Given the description of an element on the screen output the (x, y) to click on. 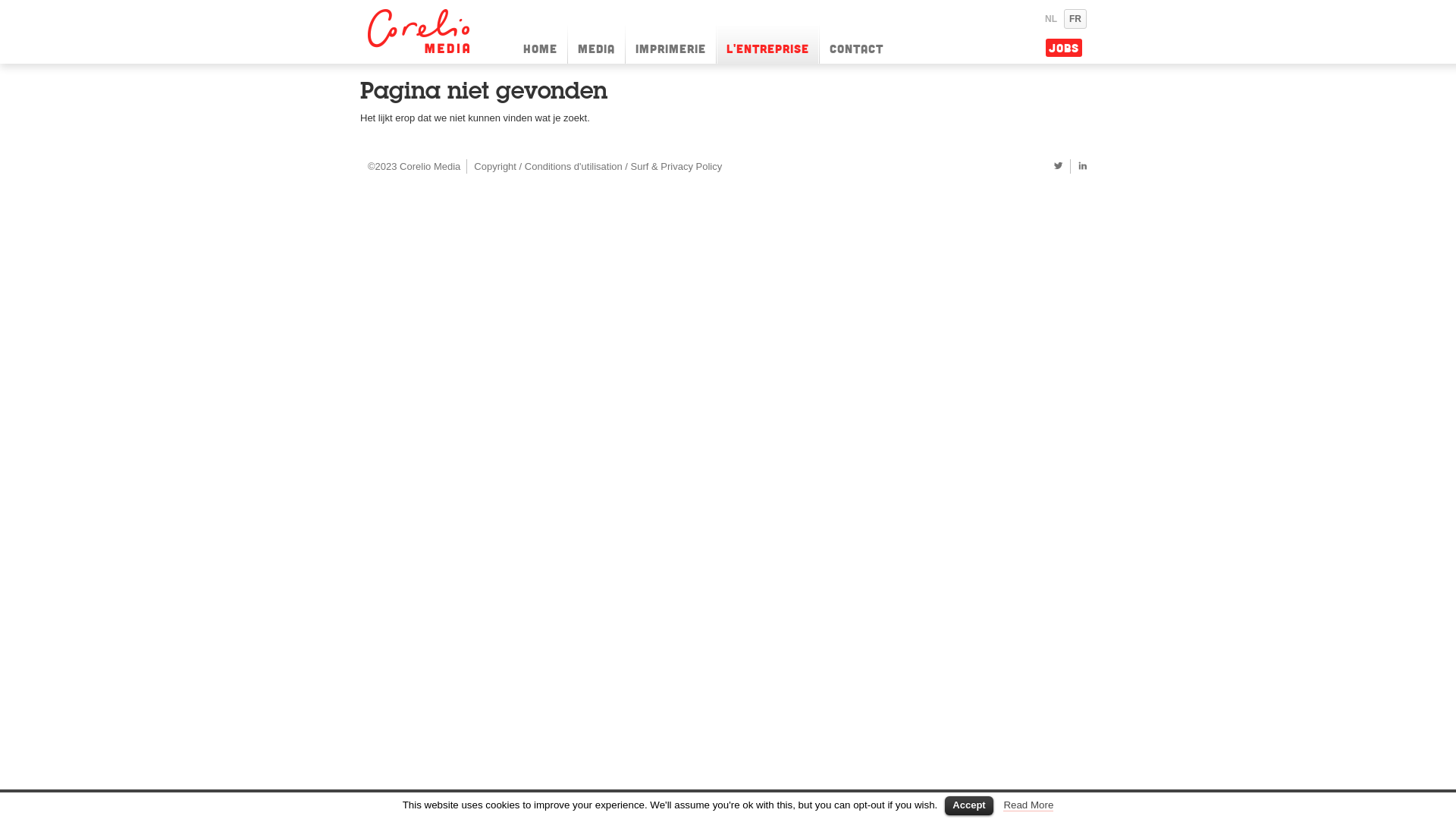
FR Element type: text (1074, 18)
NL Element type: text (1050, 18)
Read More Element type: text (1028, 805)
IMPRIMERIE Element type: text (670, 44)
Copyright / Conditions d'utilisation / Surf & Privacy Policy Element type: text (597, 165)
CONTACT Element type: text (856, 44)
MEDIA Element type: text (596, 44)
Accept Element type: text (968, 805)
JOBS Element type: text (1063, 47)
L'ENTREPRISE Element type: text (767, 44)
HOME Element type: text (540, 44)
Corelio Media Element type: hover (420, 31)
